Given the description of an element on the screen output the (x, y) to click on. 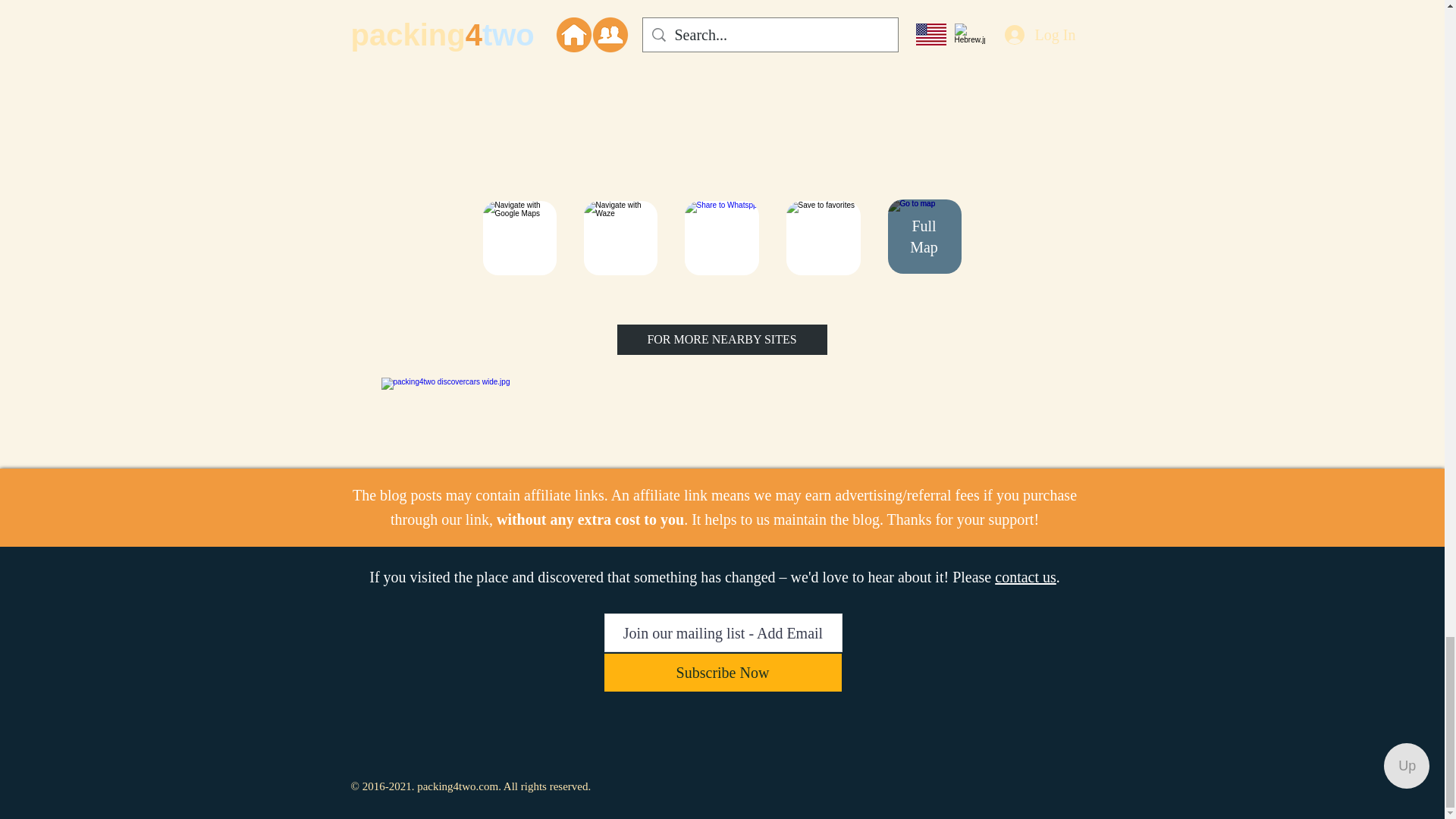
Save to favorites (823, 237)
contact us (1025, 576)
Subscribe Now (722, 672)
Navigate with Waze (620, 237)
Go to map (923, 236)
Share to Whatspp (721, 237)
Navigate with Google Maps (518, 237)
